Given the description of an element on the screen output the (x, y) to click on. 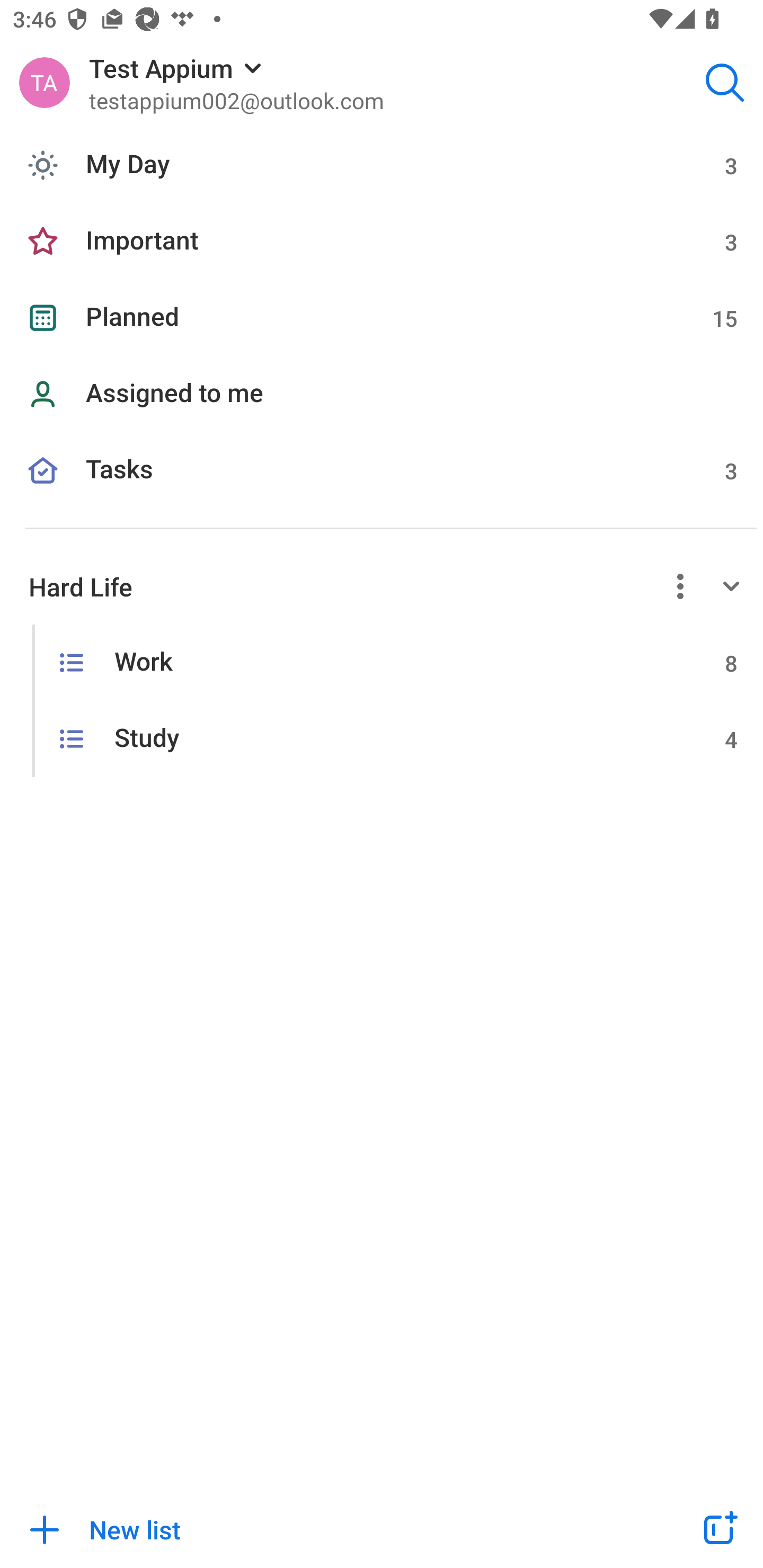
New list (328, 1529)
